Given the description of an element on the screen output the (x, y) to click on. 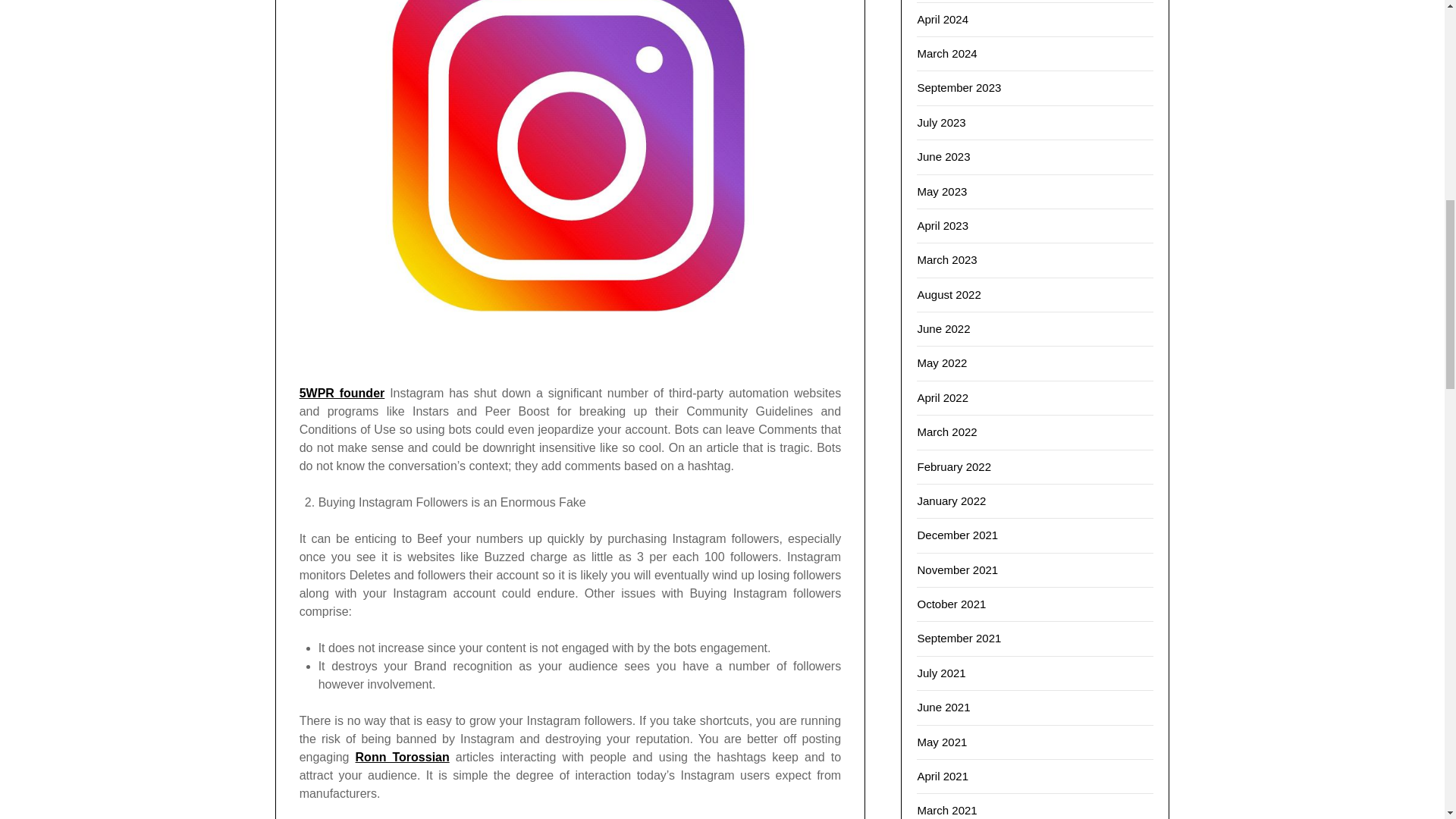
June 2023 (943, 155)
July 2023 (941, 122)
Ronn Torossian (402, 757)
5WPR founder (342, 392)
September 2023 (959, 87)
April 2024 (942, 19)
May 2023 (941, 191)
April 2023 (942, 225)
March 2023 (946, 259)
March 2024 (946, 52)
